Given the description of an element on the screen output the (x, y) to click on. 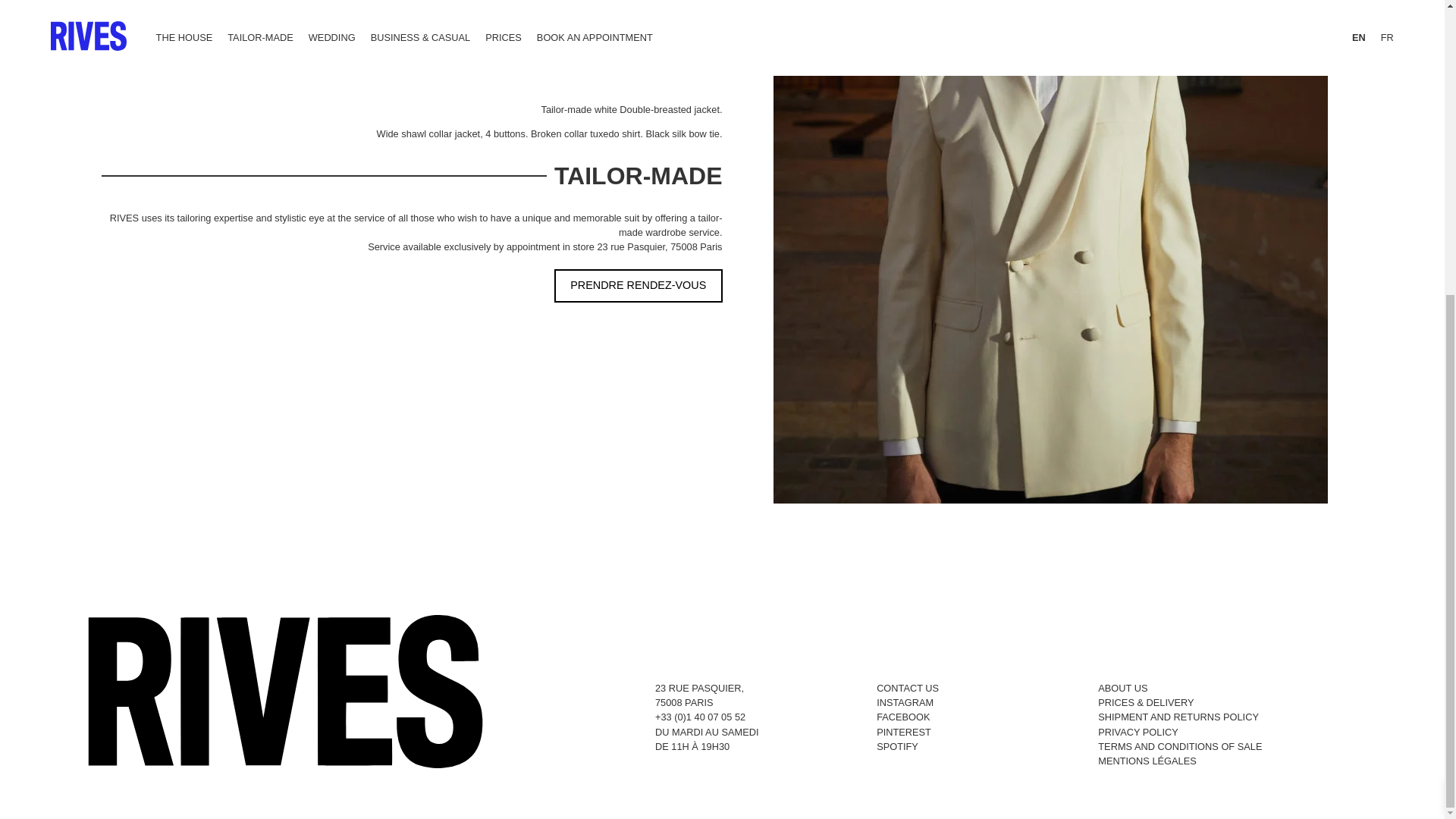
PRENDRE RENDEZ-VOUS (638, 286)
SPOTIFY (897, 746)
FACEBOOK (903, 716)
CONTACT US (907, 687)
PINTEREST (903, 731)
INSTAGRAM (699, 695)
